Given the description of an element on the screen output the (x, y) to click on. 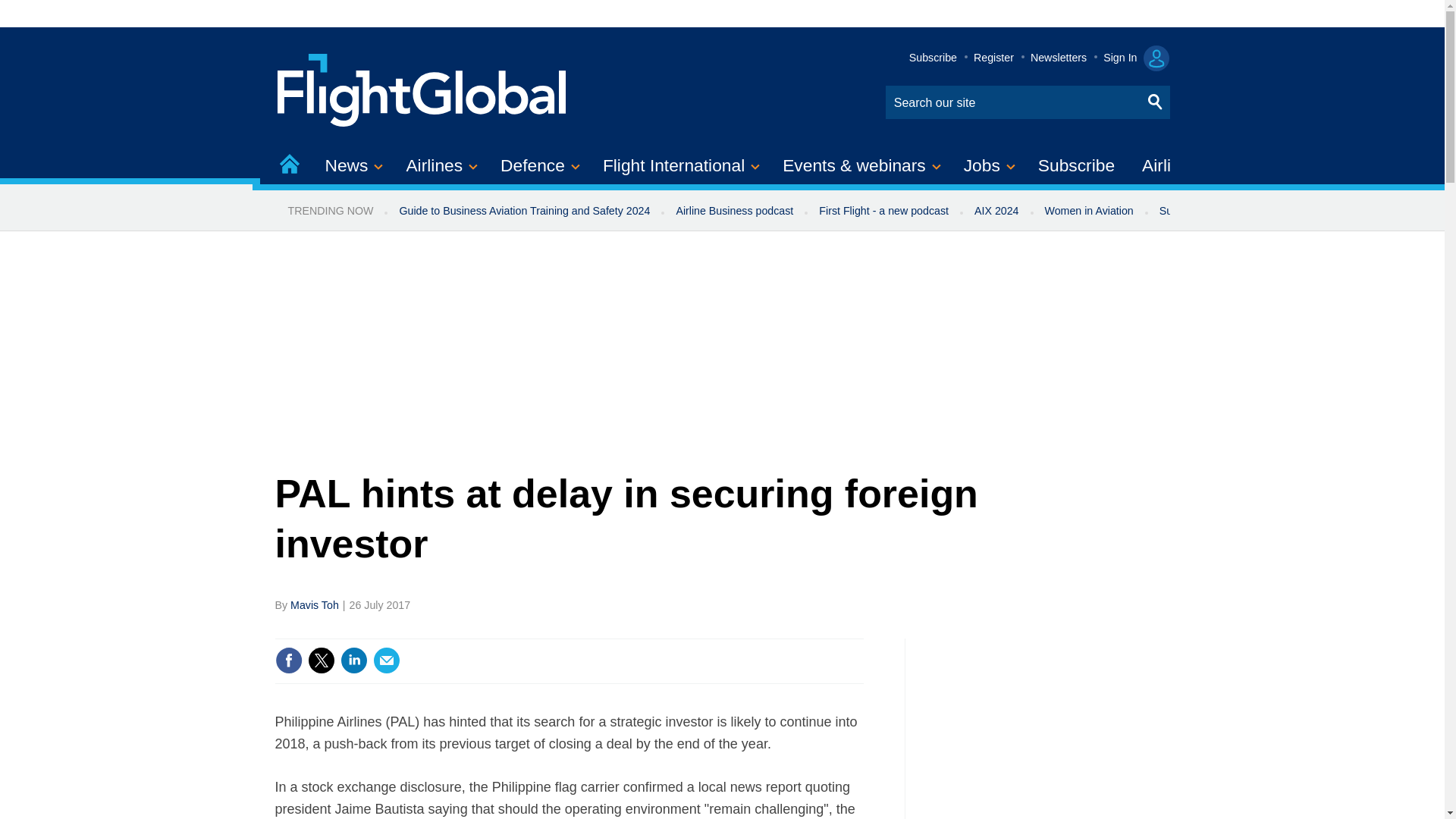
First Flight - a new podcast (883, 210)
Sustainable Aviation newsletter (1234, 210)
Share this on Twitter (320, 660)
Guide to Business Aviation Training and Safety 2024 (523, 210)
Airline Business podcast (734, 210)
Site name (422, 88)
Women in Aviation (1089, 210)
AIX 2024 (996, 210)
Email this article (386, 660)
Share this on Linked in (352, 660)
Share this on Facebook (288, 660)
